Given the description of an element on the screen output the (x, y) to click on. 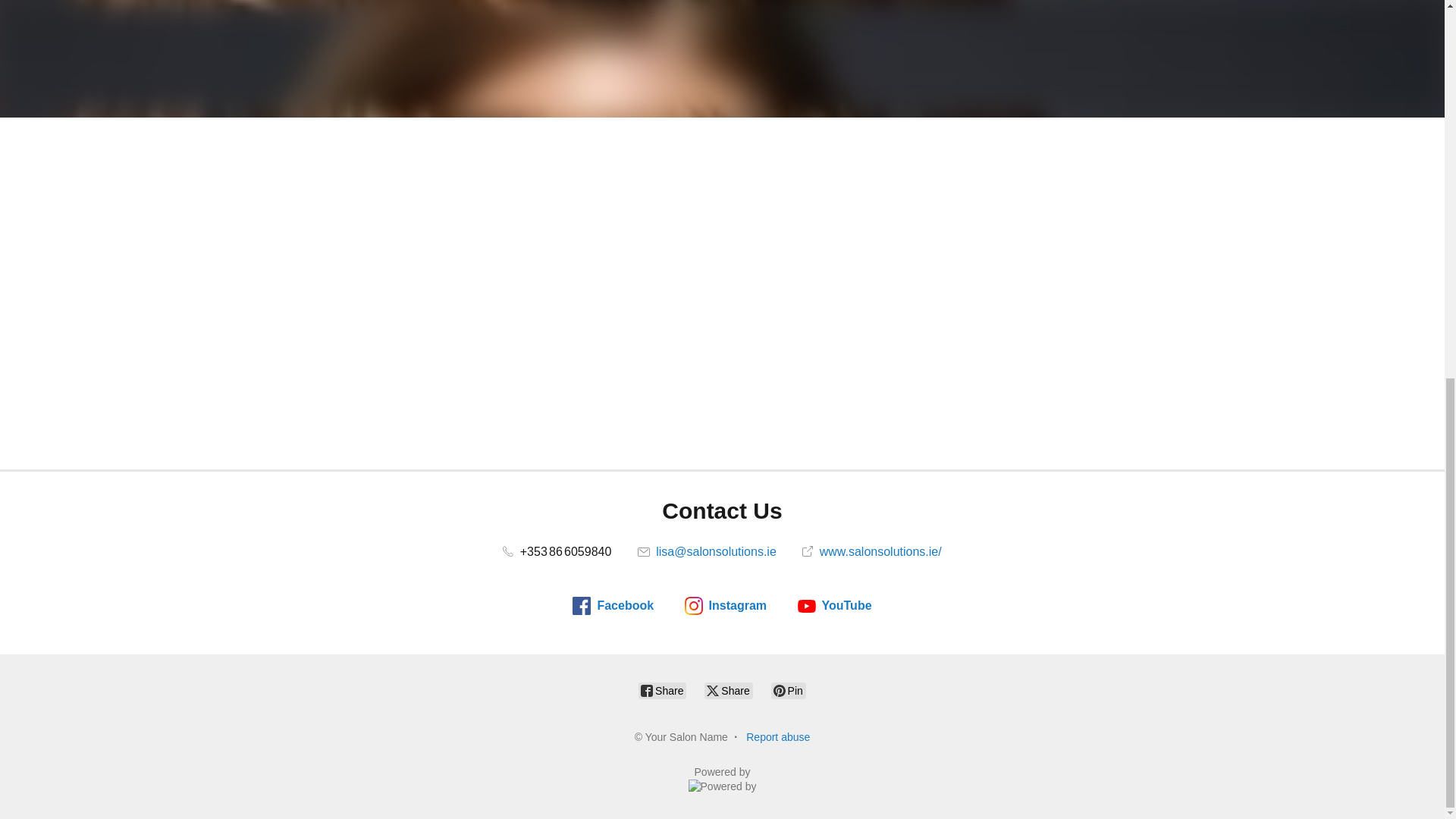
YouTube (834, 606)
Share (728, 690)
Facebook (612, 606)
Pin (788, 690)
Powered by (722, 779)
Instagram (725, 606)
Share (662, 690)
Report abuse (777, 736)
